Given the description of an element on the screen output the (x, y) to click on. 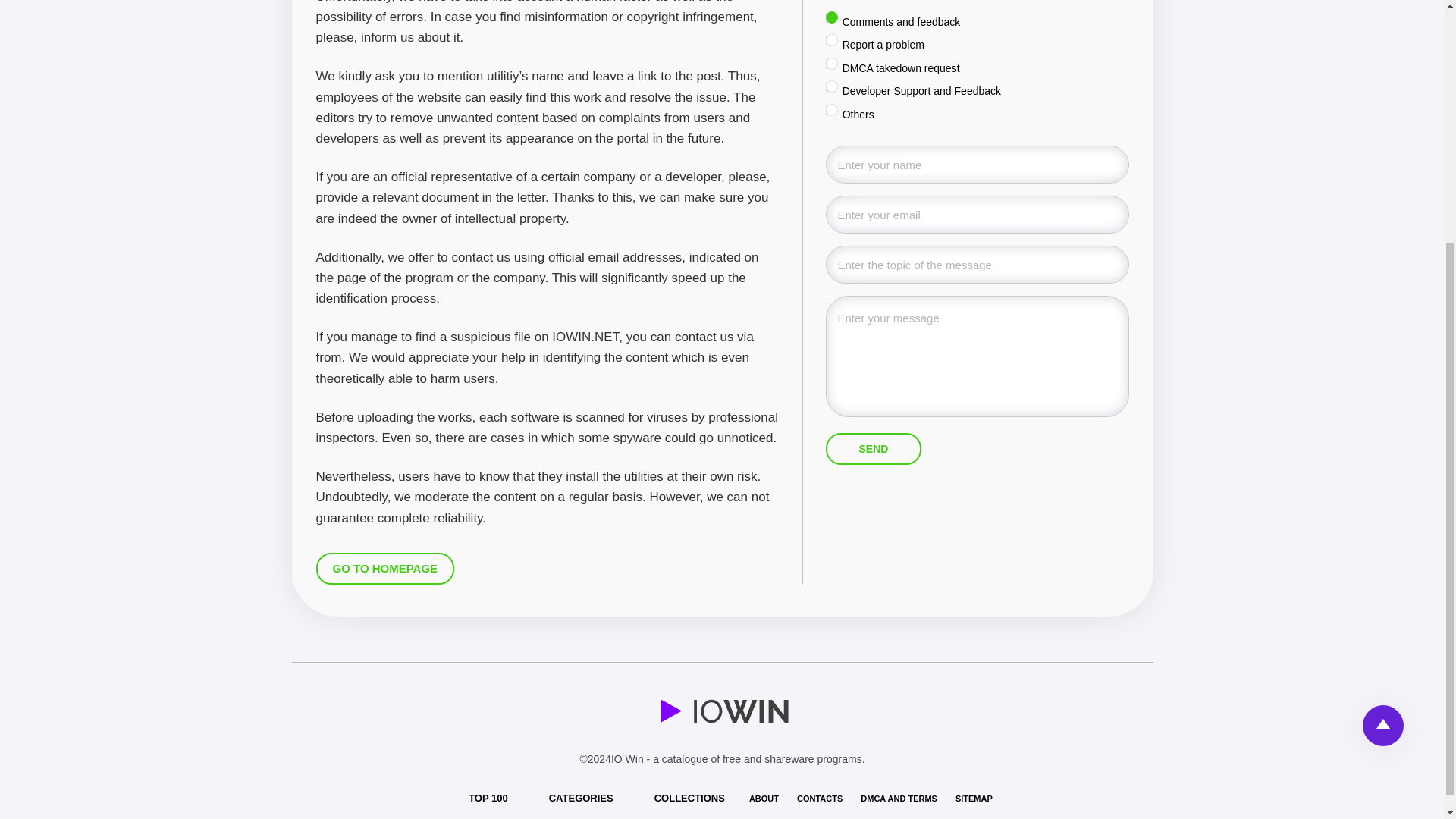
SITEMAP (973, 798)
DMCA takedown request (829, 63)
Report a problem (829, 40)
Developer Support and Feedback (829, 86)
COLLECTIONS (689, 797)
DMCA AND TERMS (898, 798)
CATEGORIES (580, 797)
SEND (873, 449)
ABOUT (763, 798)
CONTACTS (819, 798)
Comments and feedback (829, 17)
TOP 100 (488, 797)
GO TO HOMEPAGE (384, 568)
Others (829, 110)
